Given the description of an element on the screen output the (x, y) to click on. 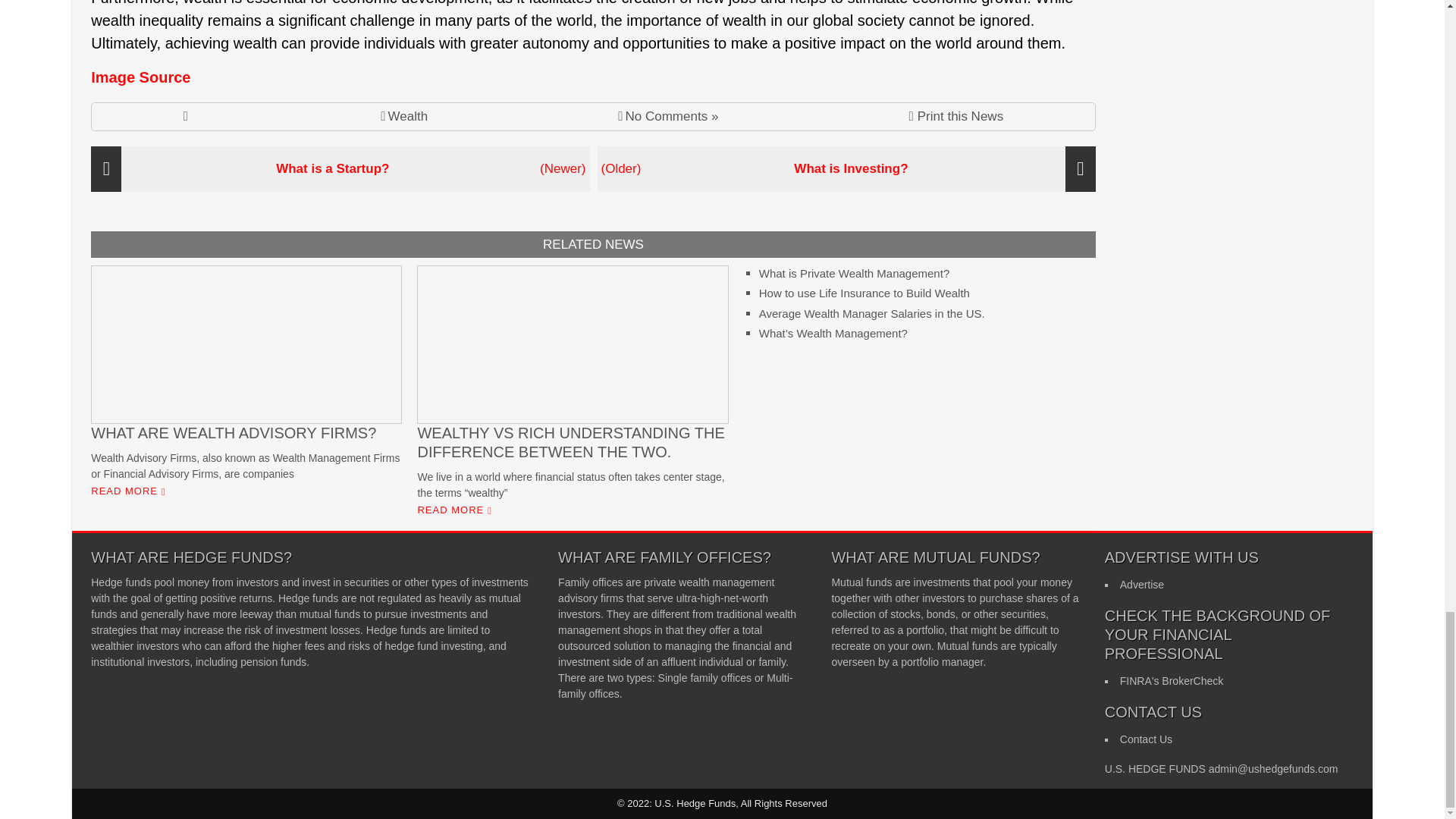
Permanent Link to What Are Wealth Advisory Firms? (244, 465)
Average Wealth Manager Salaries in the US. (871, 313)
Permanent Link to How to use Life Insurance to Build Wealth (863, 292)
READ MORE (125, 490)
READ MORE (451, 509)
How to use Life Insurance to Build Wealth (863, 292)
Print this News (956, 116)
